Given the description of an element on the screen output the (x, y) to click on. 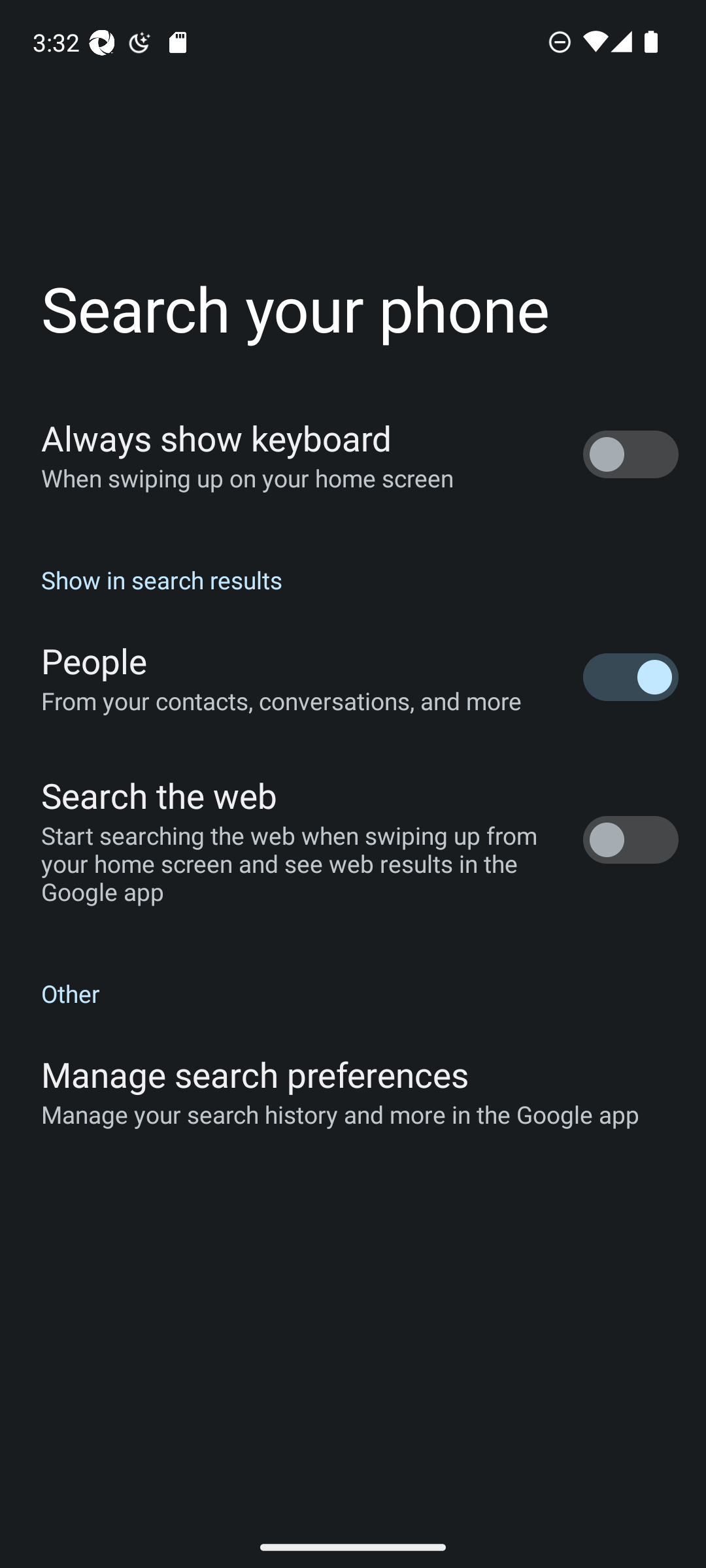
People From your contacts, conversations, and more (353, 676)
